Given the description of an element on the screen output the (x, y) to click on. 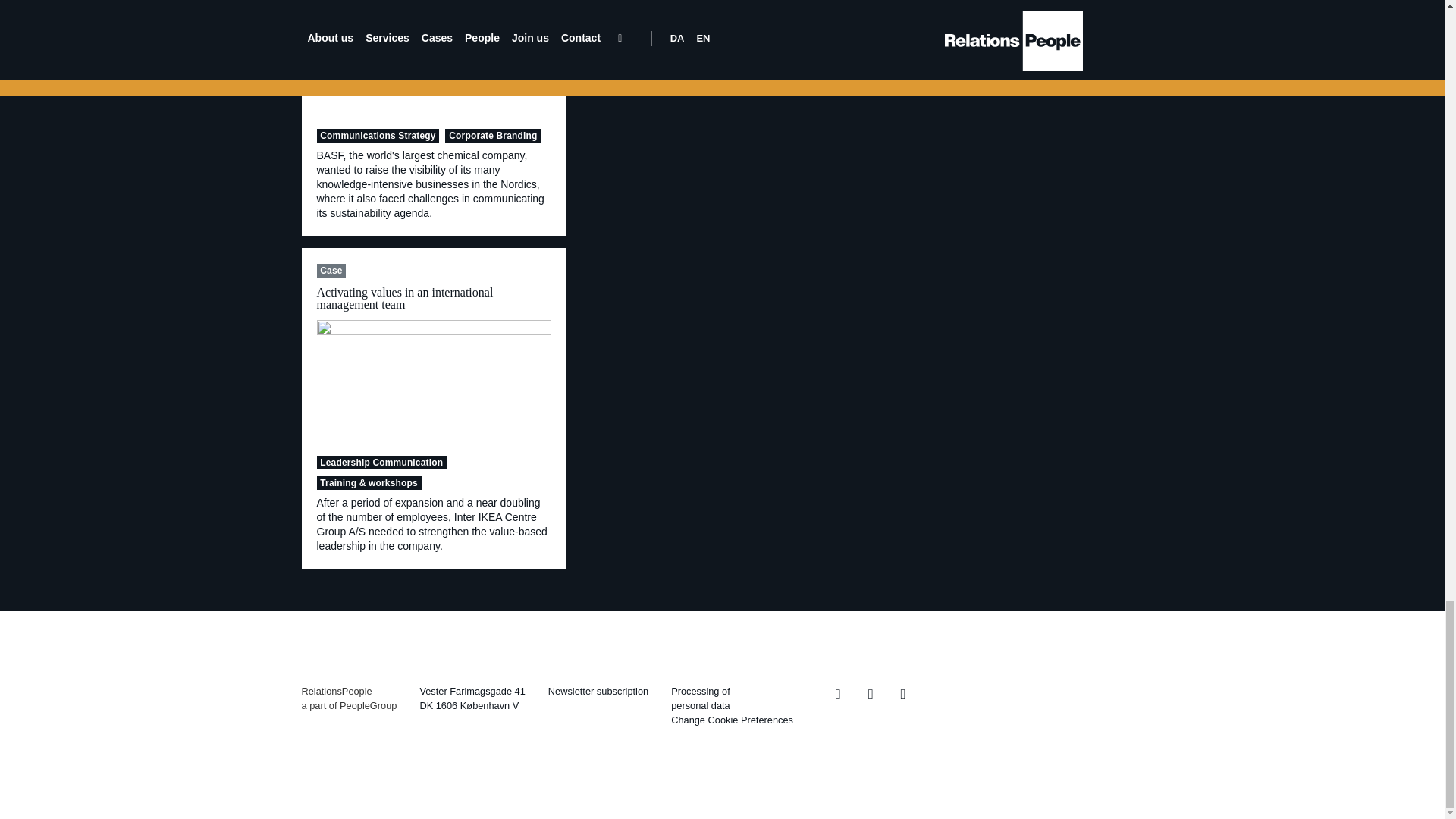
Virtual launch of corporate strategy for 140 leaders (433, 58)
Newsletter subscription (597, 690)
facebook (838, 693)
instagram (870, 693)
Change Cookie Preferences (732, 719)
Processing of (700, 690)
personal data (700, 705)
Virtual launch of corporate strategy for 140 leaders (433, 381)
linkedin (903, 693)
facebook (838, 693)
